Given the description of an element on the screen output the (x, y) to click on. 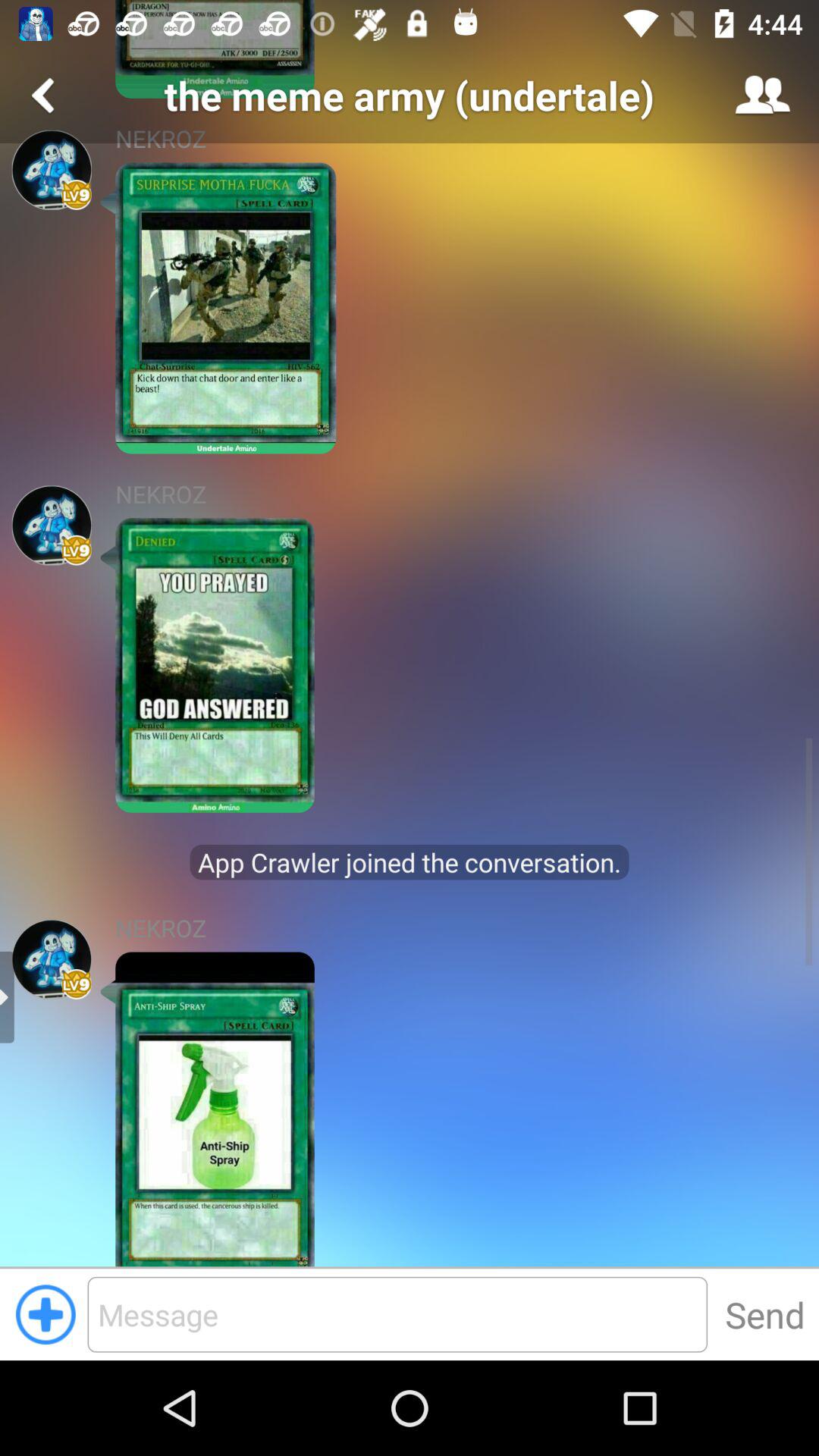
message entering box (397, 1314)
